Given the description of an element on the screen output the (x, y) to click on. 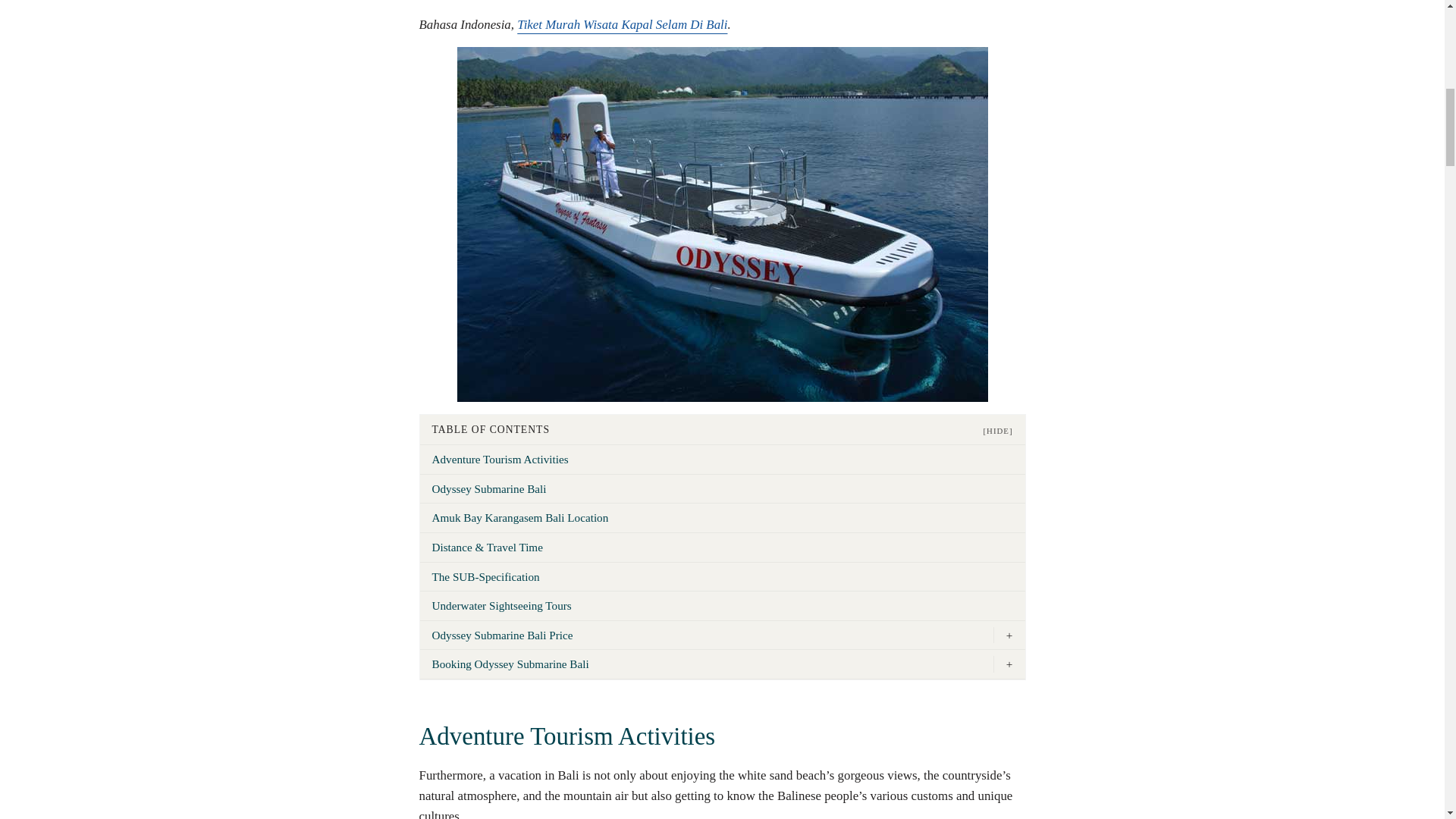
Amuk Bay Karangasem Bali Location (722, 517)
Underwater Sightseeing Tours (722, 605)
Odyssey Submarine Bali Price (706, 635)
Adventure Tourism Activities (722, 459)
Odyssey Submarine Bali (722, 489)
Booking Odyssey Submarine Bali (706, 664)
The SUB-Specification (722, 576)
